Given the description of an element on the screen output the (x, y) to click on. 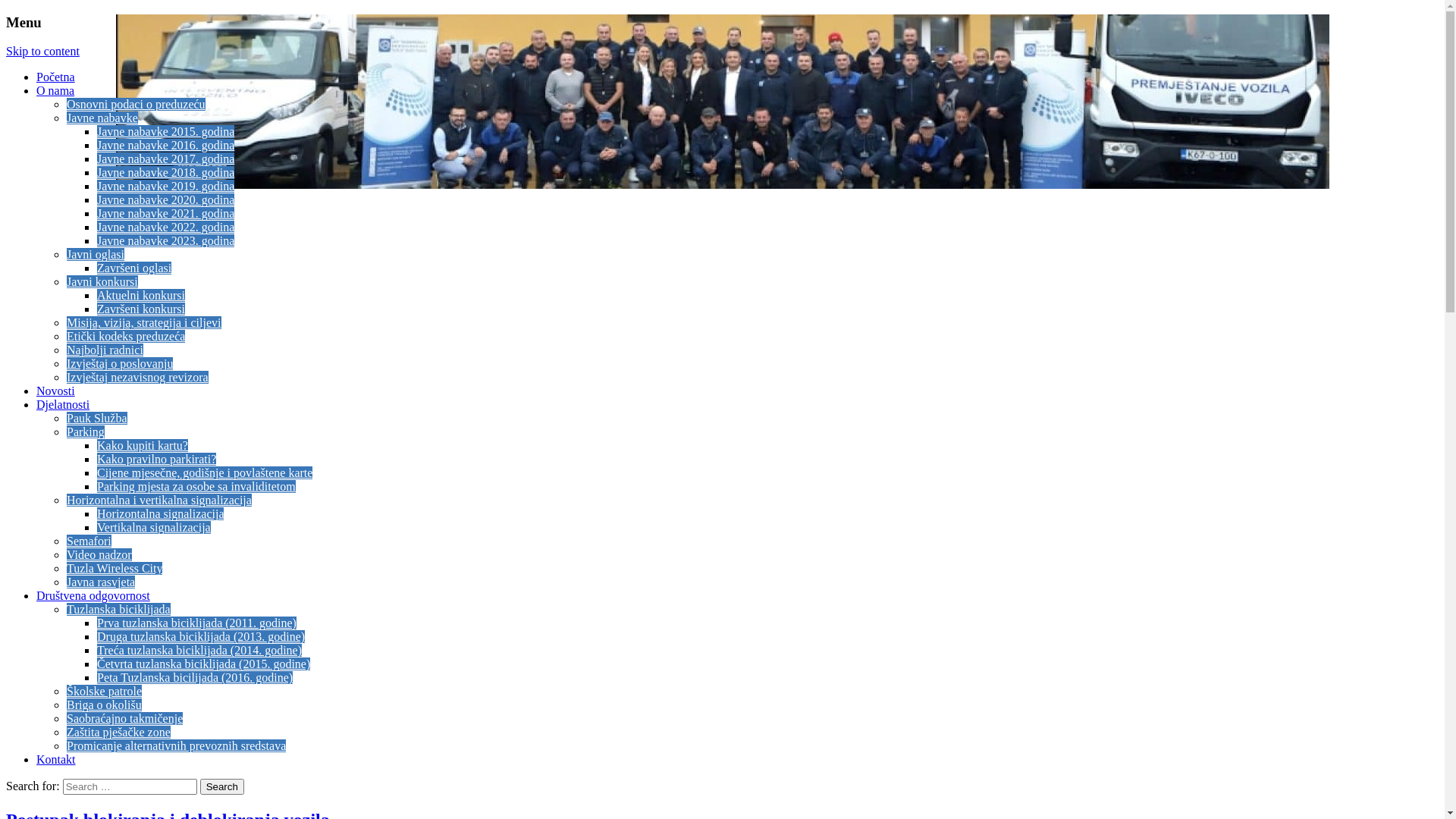
Kontakt Element type: text (55, 759)
Misija, vizija, strategija i ciljevi Element type: text (143, 322)
Vertikalna signalizacija Element type: text (153, 526)
Peta Tuzlanska bicilijada (2016. godine) Element type: text (194, 677)
O nama Element type: text (55, 90)
Javne nabavke 2017. godina Element type: text (165, 158)
Parking Element type: text (85, 431)
Javne nabavke Element type: text (102, 117)
Djelatnosti Element type: text (62, 404)
Javni oglasi Element type: text (95, 253)
Parking mjesta za osobe sa invaliditetom Element type: text (196, 486)
Javne nabavke 2015. godina Element type: text (165, 131)
Horizontalna signalizacija Element type: text (160, 513)
Novosti Element type: text (55, 390)
Javne nabavke 2021. godina Element type: text (165, 213)
Najbolji radnici Element type: text (104, 349)
Javni konkursi Element type: text (102, 281)
Kako pravilno parkirati? Element type: text (156, 458)
Javne nabavke 2018. godina Element type: text (165, 172)
Javne nabavke 2016. godina Element type: text (165, 144)
Javne nabavke 2023. godina Element type: text (165, 240)
Semafori Element type: text (88, 540)
Tuzlanska biciklijada Element type: text (118, 608)
Video nadzor Element type: text (98, 554)
Search Element type: text (222, 786)
Tuzla Wireless City Element type: text (114, 567)
Promicanje alternativnih prevoznih sredstava Element type: text (175, 745)
Aktuelni konkursi Element type: text (141, 294)
Javna rasvjeta Element type: text (100, 581)
Skip to content Element type: text (42, 50)
Horizontalna i vertikalna signalizacija Element type: text (158, 499)
Javne nabavke 2020. godina Element type: text (165, 199)
Javne nabavke 2019. godina Element type: text (165, 185)
Druga tuzlanska biciklijada (2013. godine) Element type: text (200, 636)
Javne nabavke 2022. godina Element type: text (165, 226)
Kako kupiti kartu? Element type: text (142, 445)
Prva tuzlanska biciklijada (2011. godine) Element type: text (196, 622)
